Given the description of an element on the screen output the (x, y) to click on. 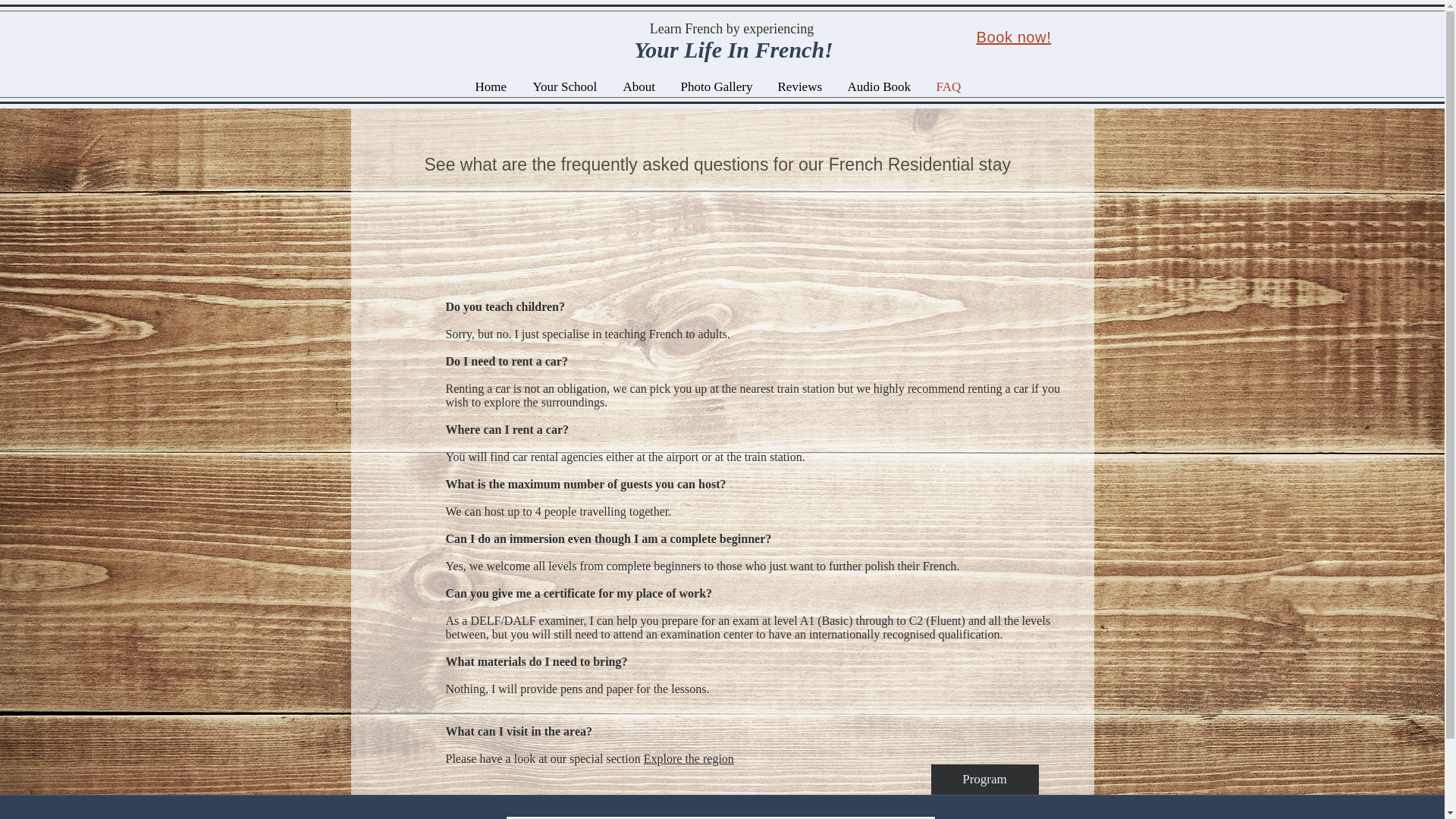
Audio Book (879, 86)
FAQ (949, 86)
Explore the region (688, 758)
Photo Gallery (716, 86)
Program (985, 779)
Home (492, 86)
Book now! (1013, 36)
Reviews (800, 86)
